Given the description of an element on the screen output the (x, y) to click on. 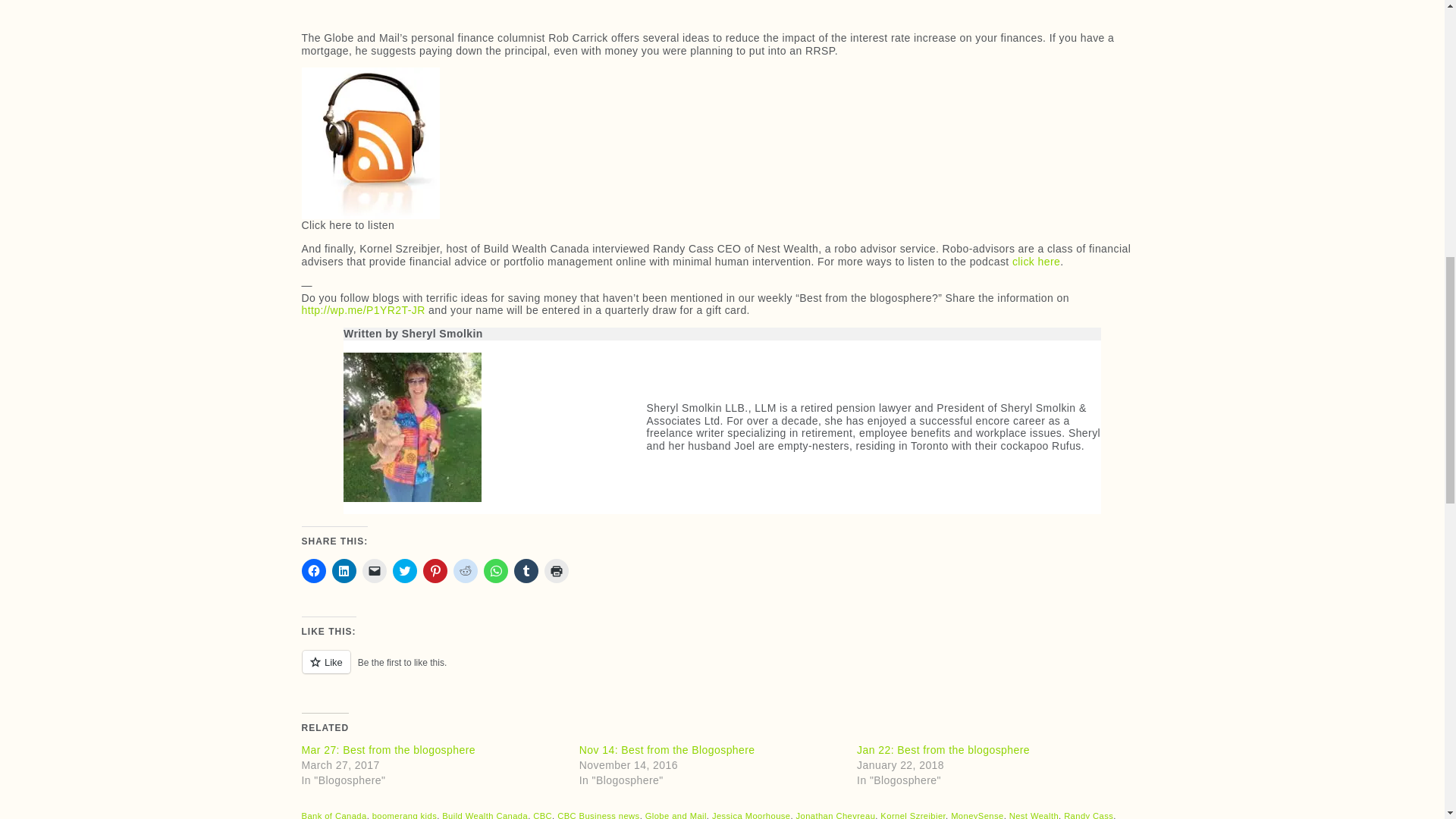
Click to share on Twitter (404, 570)
click here (1035, 261)
Nov 14: Best from the Blogosphere (667, 749)
Click to share on WhatsApp (495, 570)
Click to share on Facebook (313, 570)
Click to share on LinkedIn (343, 570)
Click to share on Pinterest (434, 570)
Click to email a link to a friend (374, 570)
Jan 22: Best from the blogosphere (943, 749)
Like or Reblog (721, 670)
Mar 27: Best from the blogosphere (388, 749)
Click to print (556, 570)
Click to share on Reddit (464, 570)
Click to share on Tumblr (525, 570)
